Given the description of an element on the screen output the (x, y) to click on. 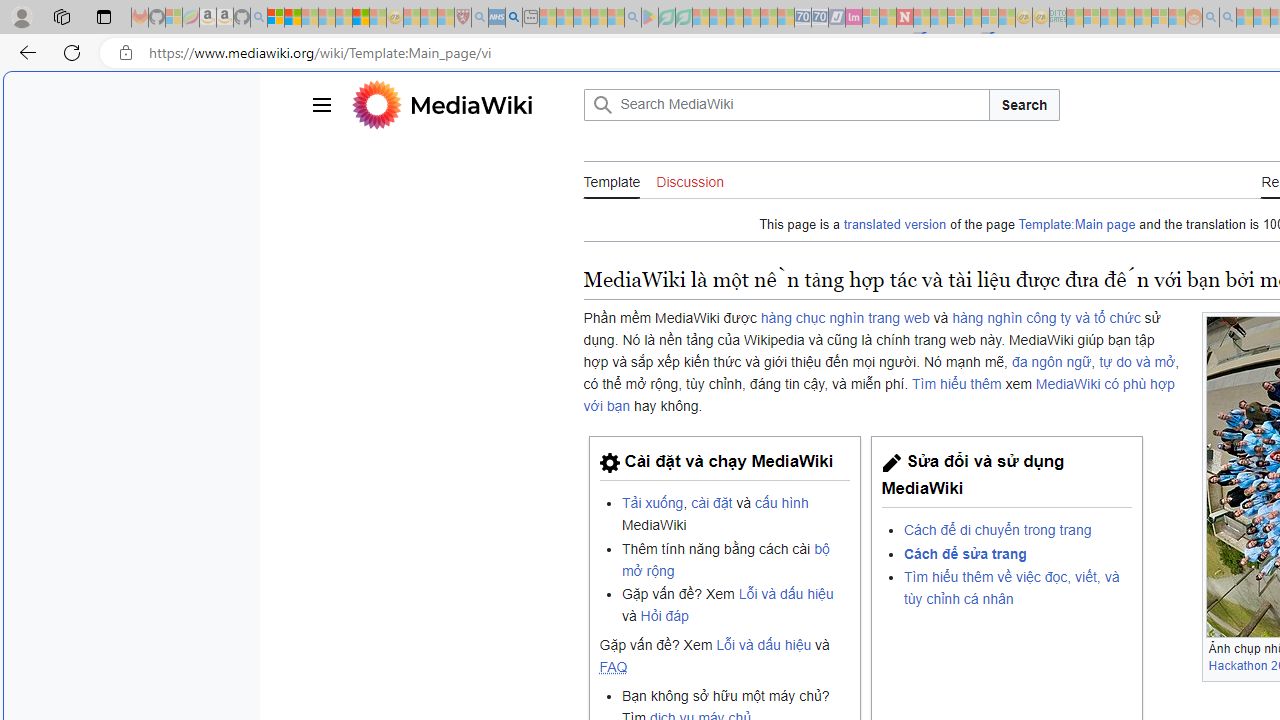
MediaWiki (461, 104)
